Given the description of an element on the screen output the (x, y) to click on. 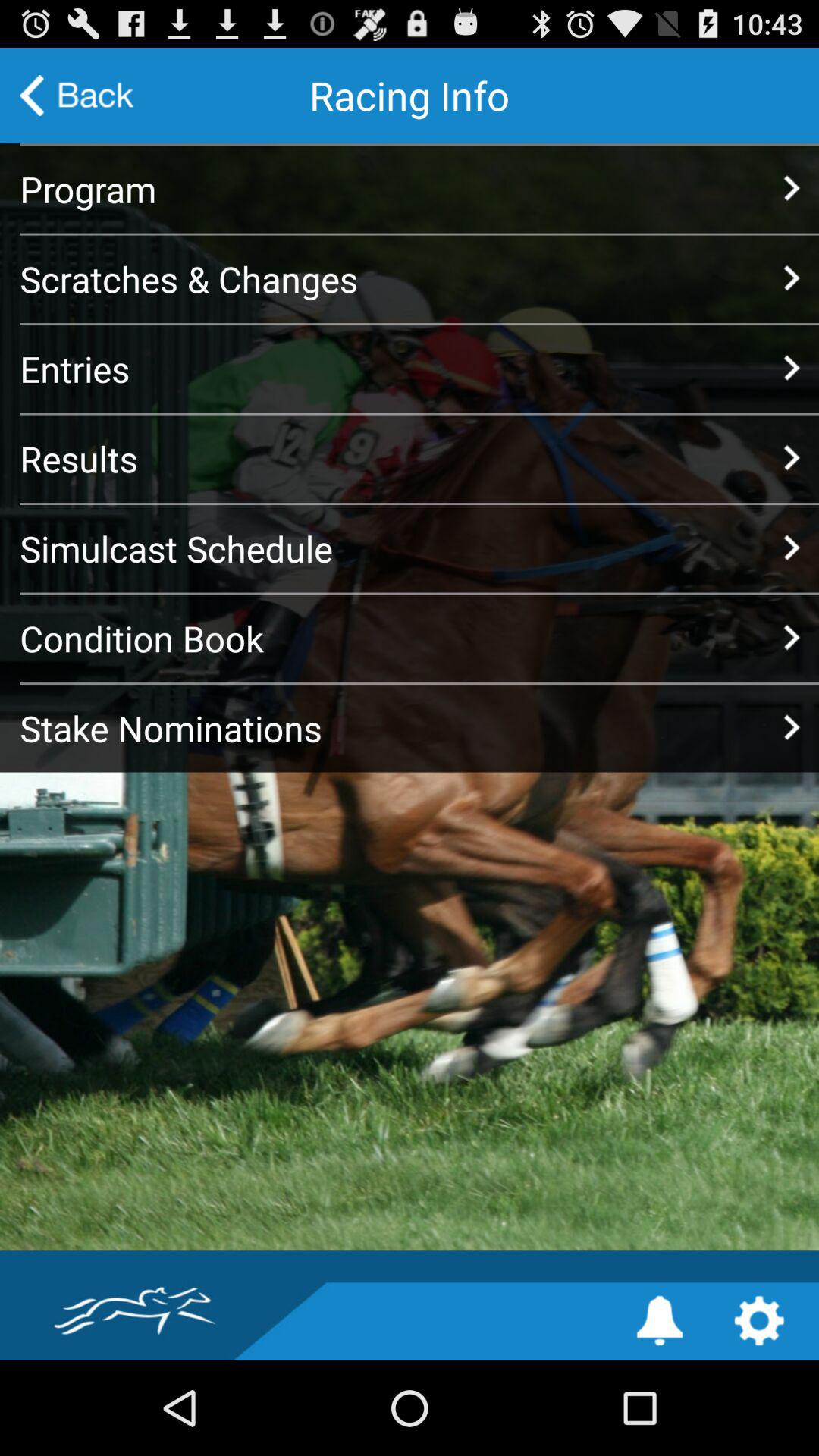
launch the icon at the top left corner (76, 95)
